Given the description of an element on the screen output the (x, y) to click on. 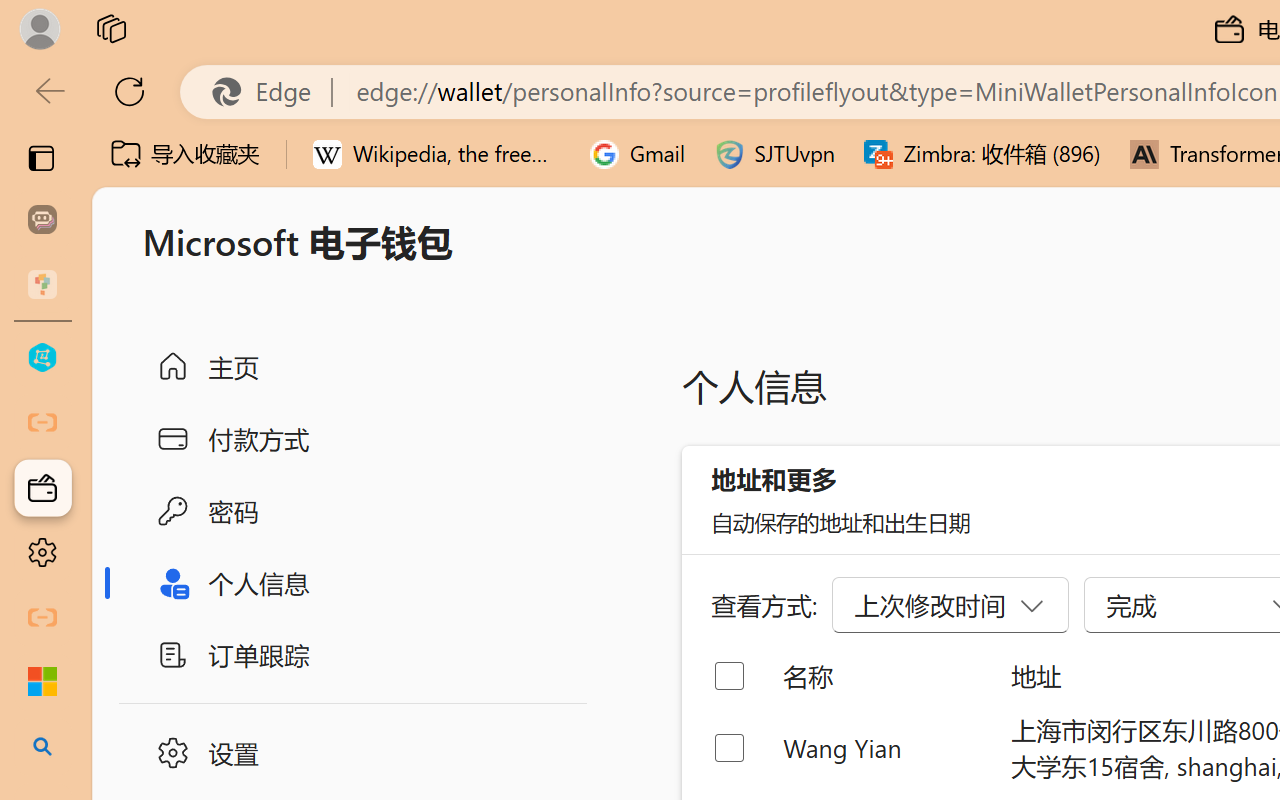
wangyian_dsw - DSW (42, 357)
